Given the description of an element on the screen output the (x, y) to click on. 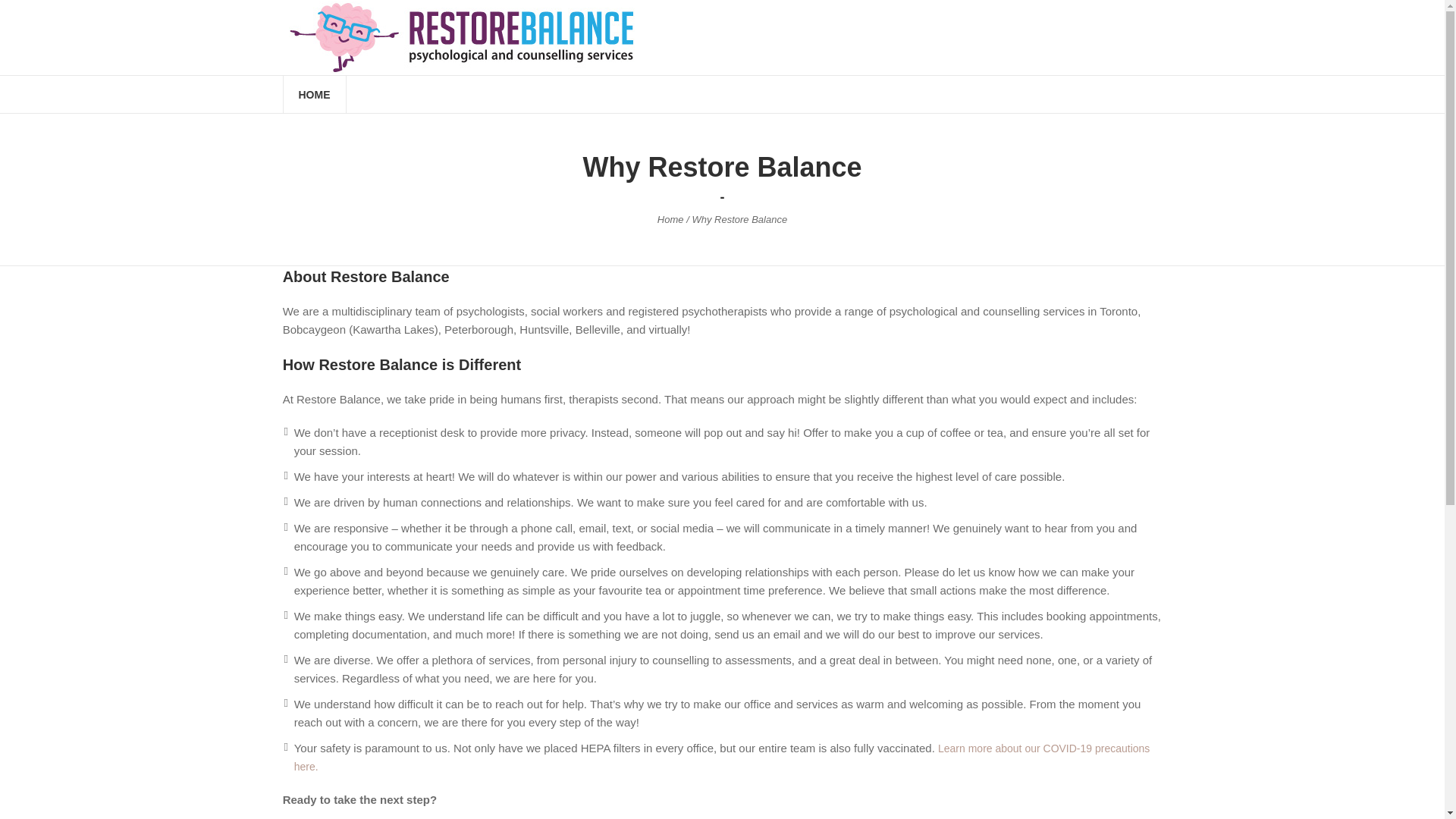
HOME (314, 94)
Home (671, 219)
Learn more about our COVID-19 precautions here.  (722, 757)
